Given the description of an element on the screen output the (x, y) to click on. 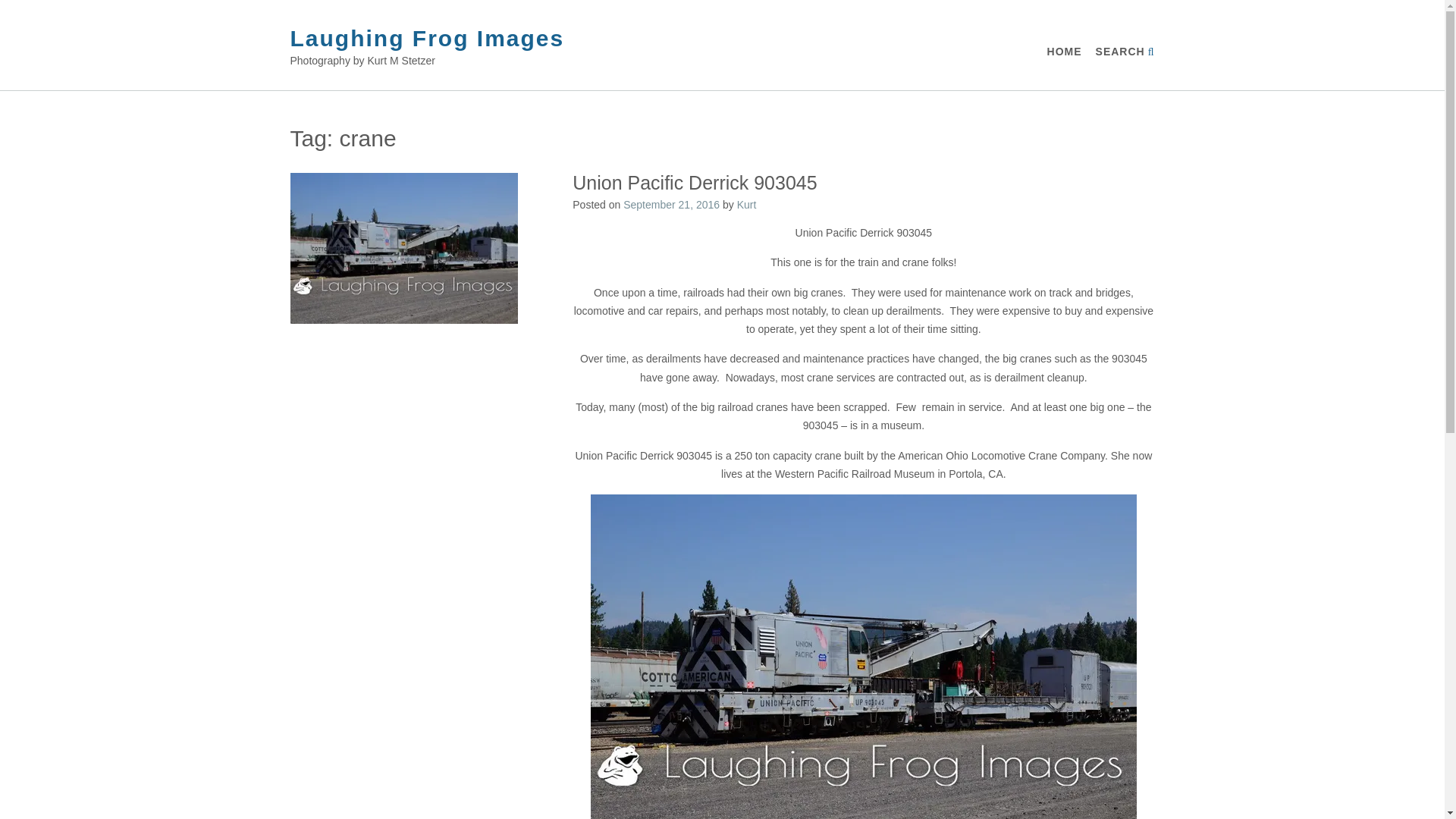
September 21, 2016 (671, 204)
HOME (1063, 51)
Laughing Frog Images (426, 38)
Union Pacific Derrick 903045 (694, 182)
SEARCH (1125, 51)
Kurt (746, 204)
Laughing Frog Images (426, 38)
